Given the description of an element on the screen output the (x, y) to click on. 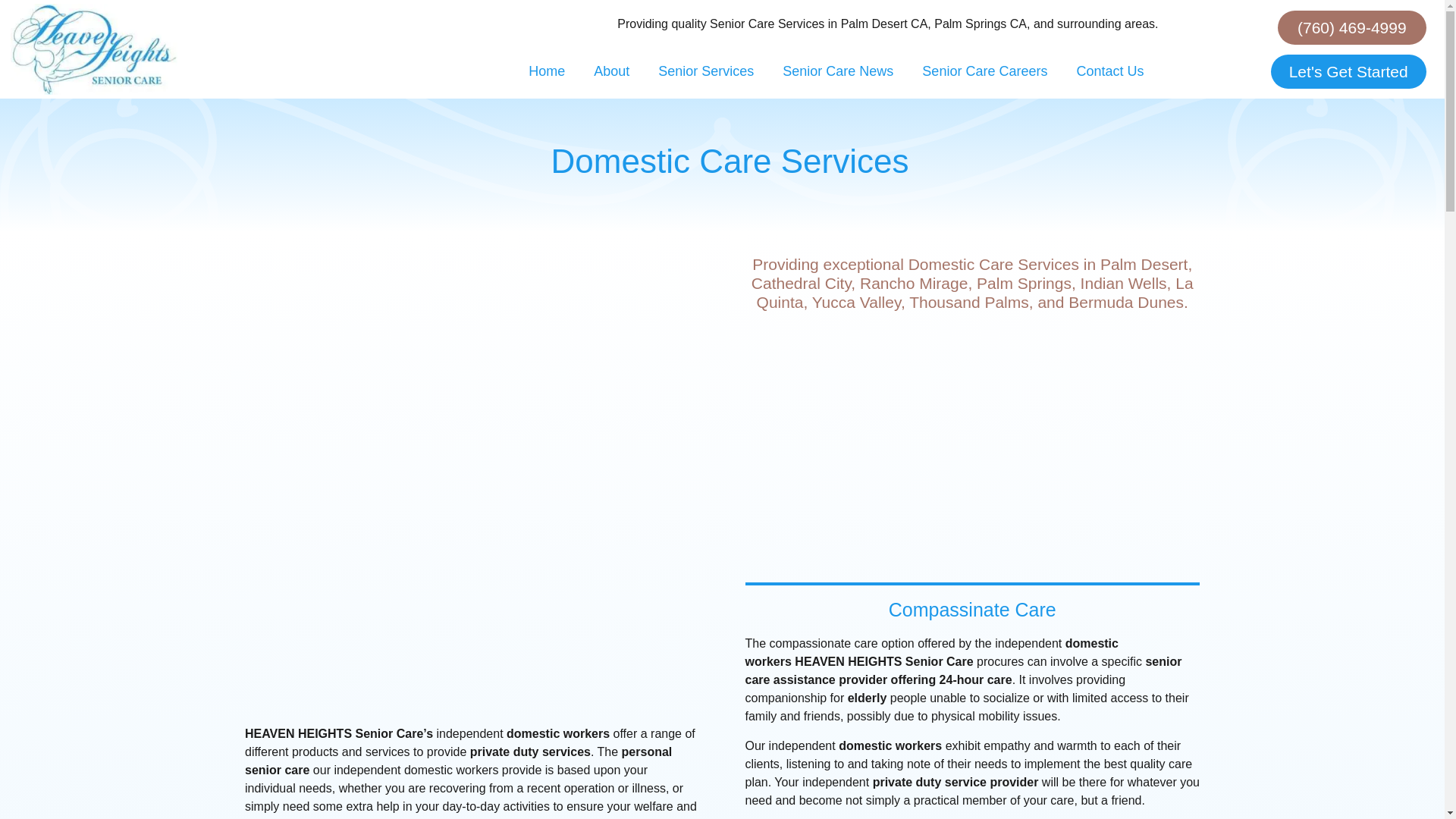
About (611, 70)
Let's Get Started (1348, 71)
Contact Us (1109, 70)
Senior Services (705, 70)
Senior Care Careers (984, 70)
Home (546, 70)
Senior Care News (837, 70)
